Given the description of an element on the screen output the (x, y) to click on. 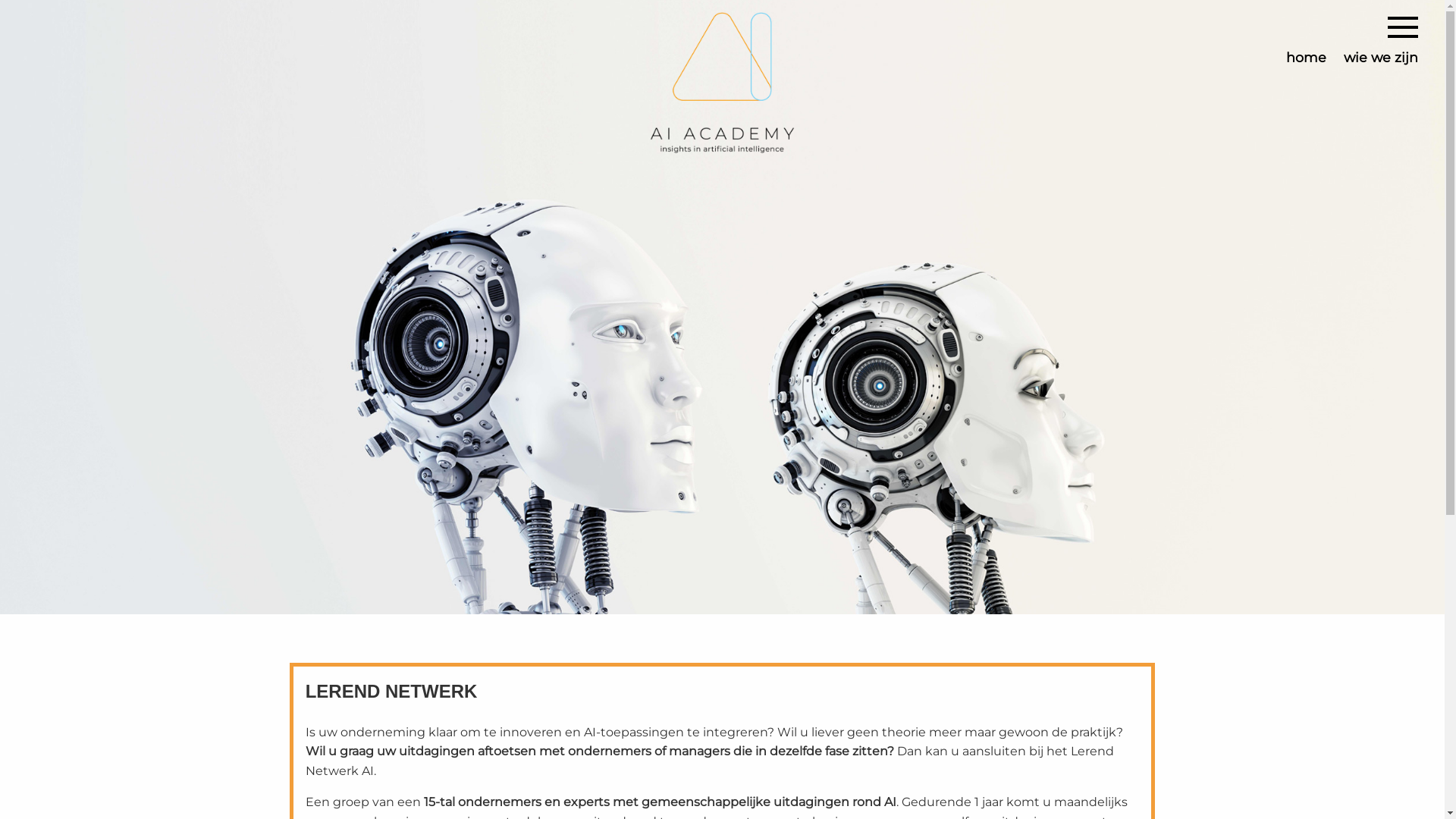
wie we zijn Element type: text (1380, 57)
home Element type: text (1306, 57)
AI Academy Element type: hover (721, 76)
